Given the description of an element on the screen output the (x, y) to click on. 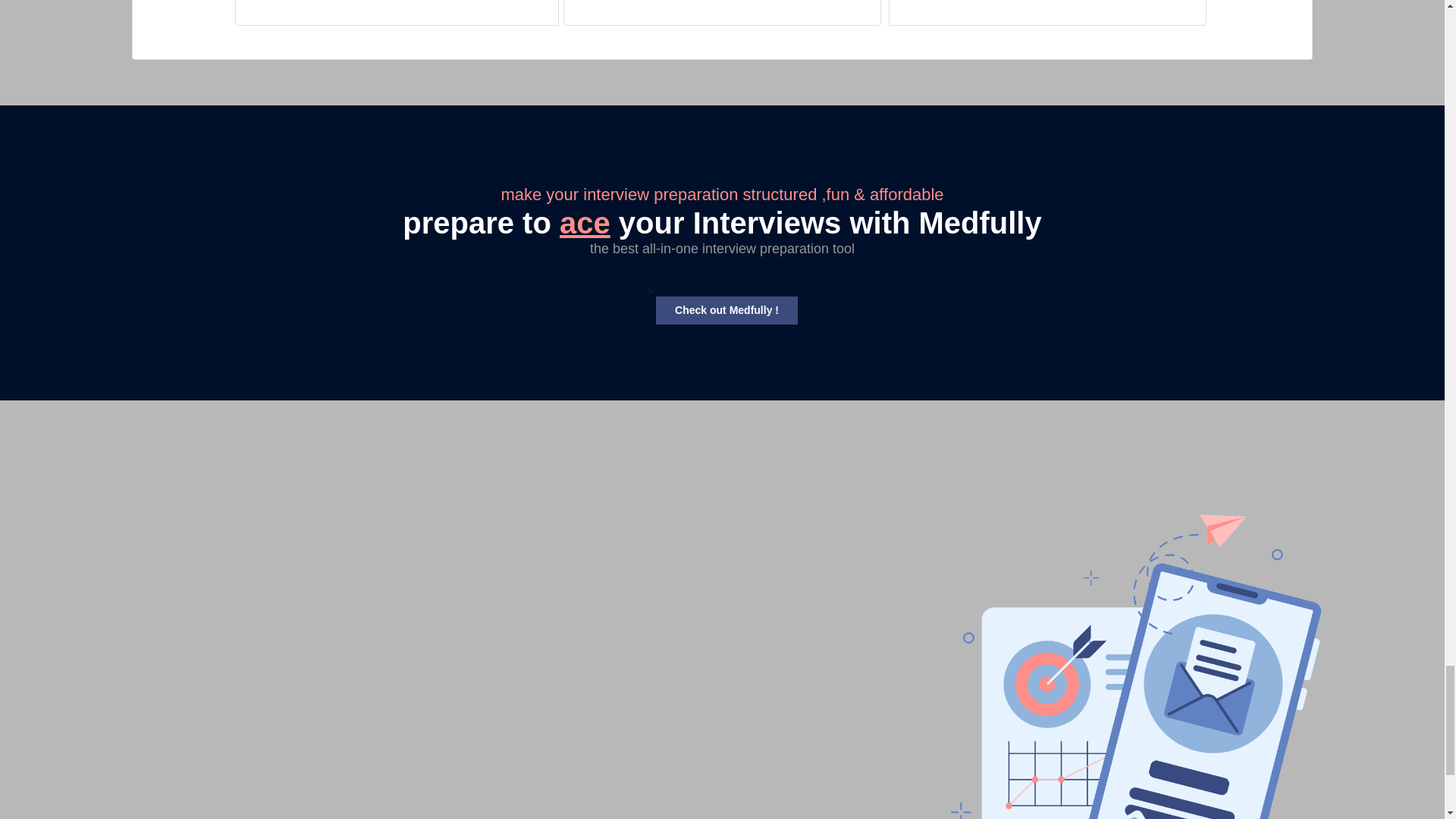
Check out Medfully ! (726, 310)
